Given the description of an element on the screen output the (x, y) to click on. 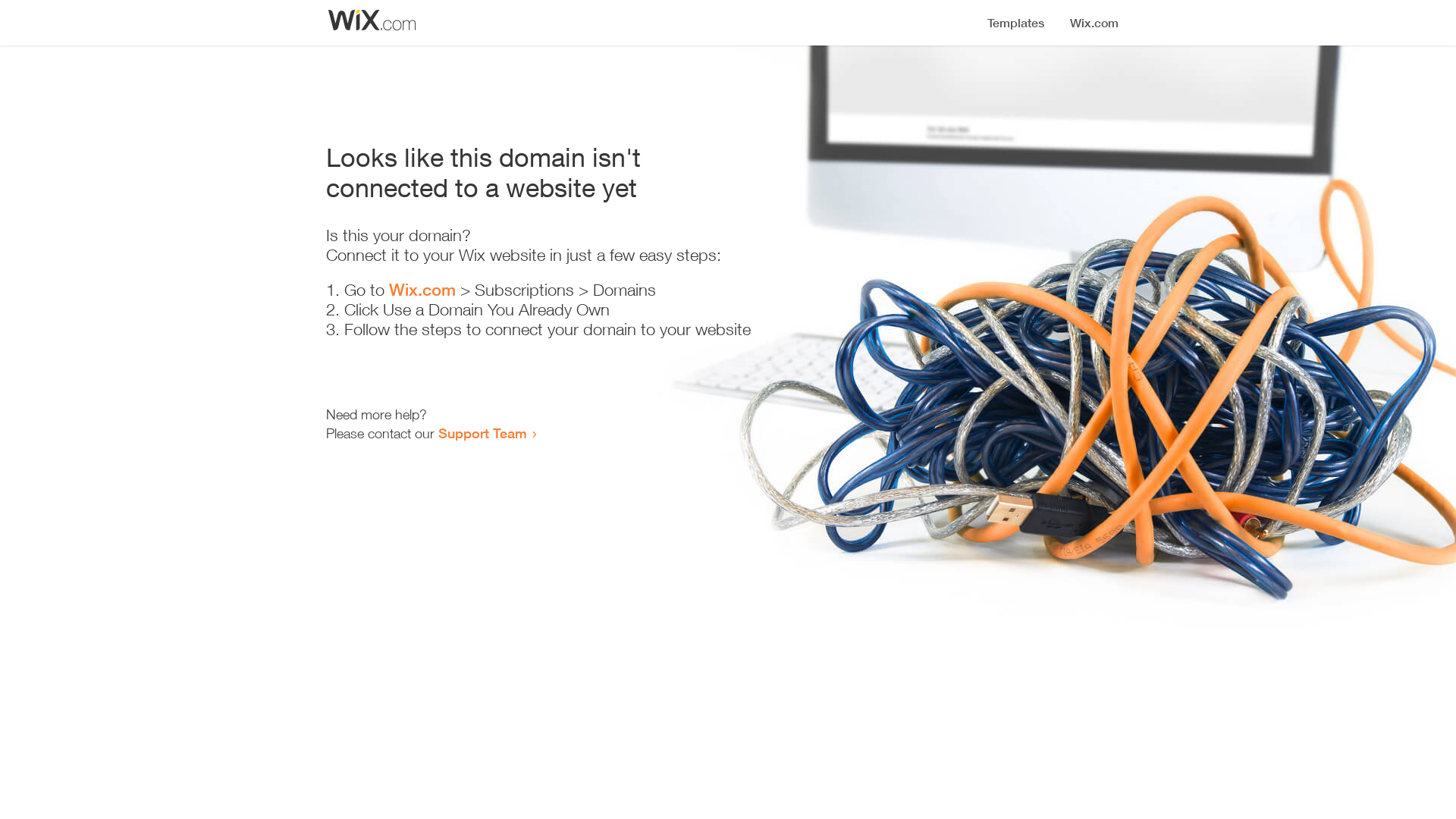
Wix.com Element type: text (422, 289)
Support Team Element type: text (482, 432)
